Given the description of an element on the screen output the (x, y) to click on. 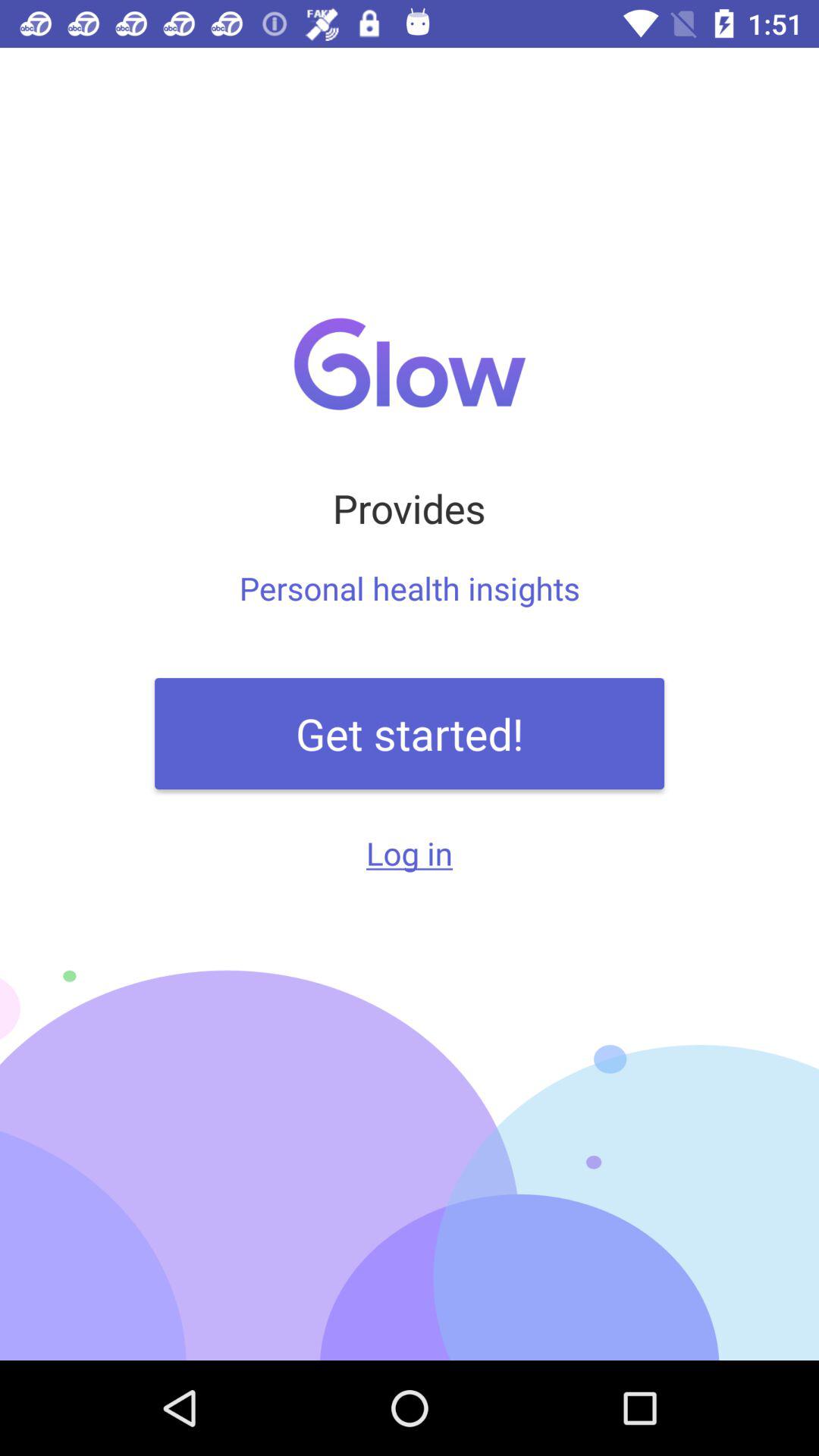
press the get started! item (409, 733)
